Given the description of an element on the screen output the (x, y) to click on. 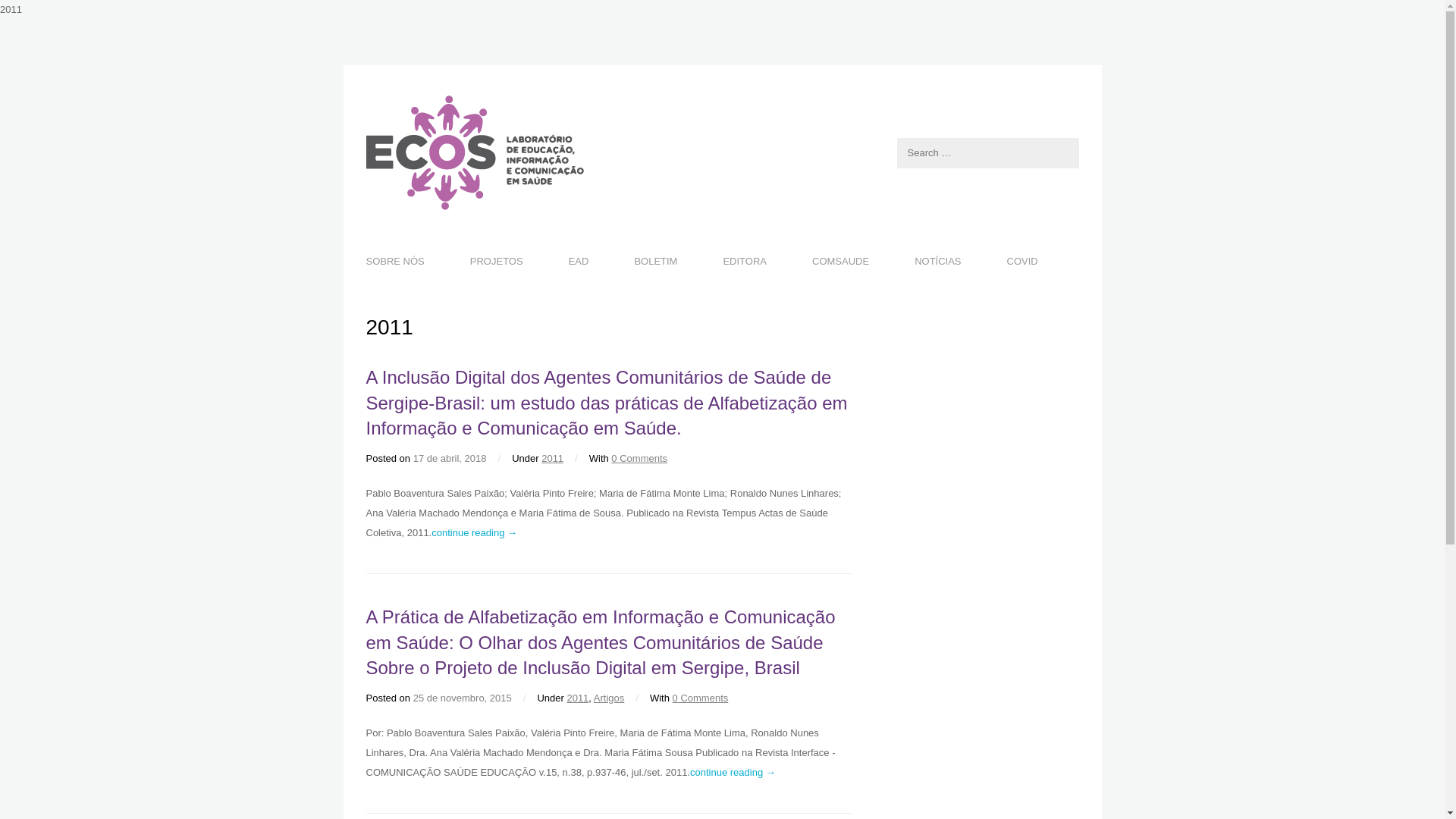
PROJETOS Element type: text (496, 261)
EAD Element type: text (578, 261)
2011 Element type: text (577, 697)
COMSAUDE Element type: text (840, 261)
2011 Element type: text (552, 458)
Artigos Element type: text (608, 697)
0 Comments Element type: text (700, 697)
0 Comments Element type: text (639, 458)
EDITORA Element type: text (744, 261)
COVID Element type: text (1022, 261)
BOLETIM Element type: text (655, 261)
ECOS Element type: hover (721, 152)
